Given the description of an element on the screen output the (x, y) to click on. 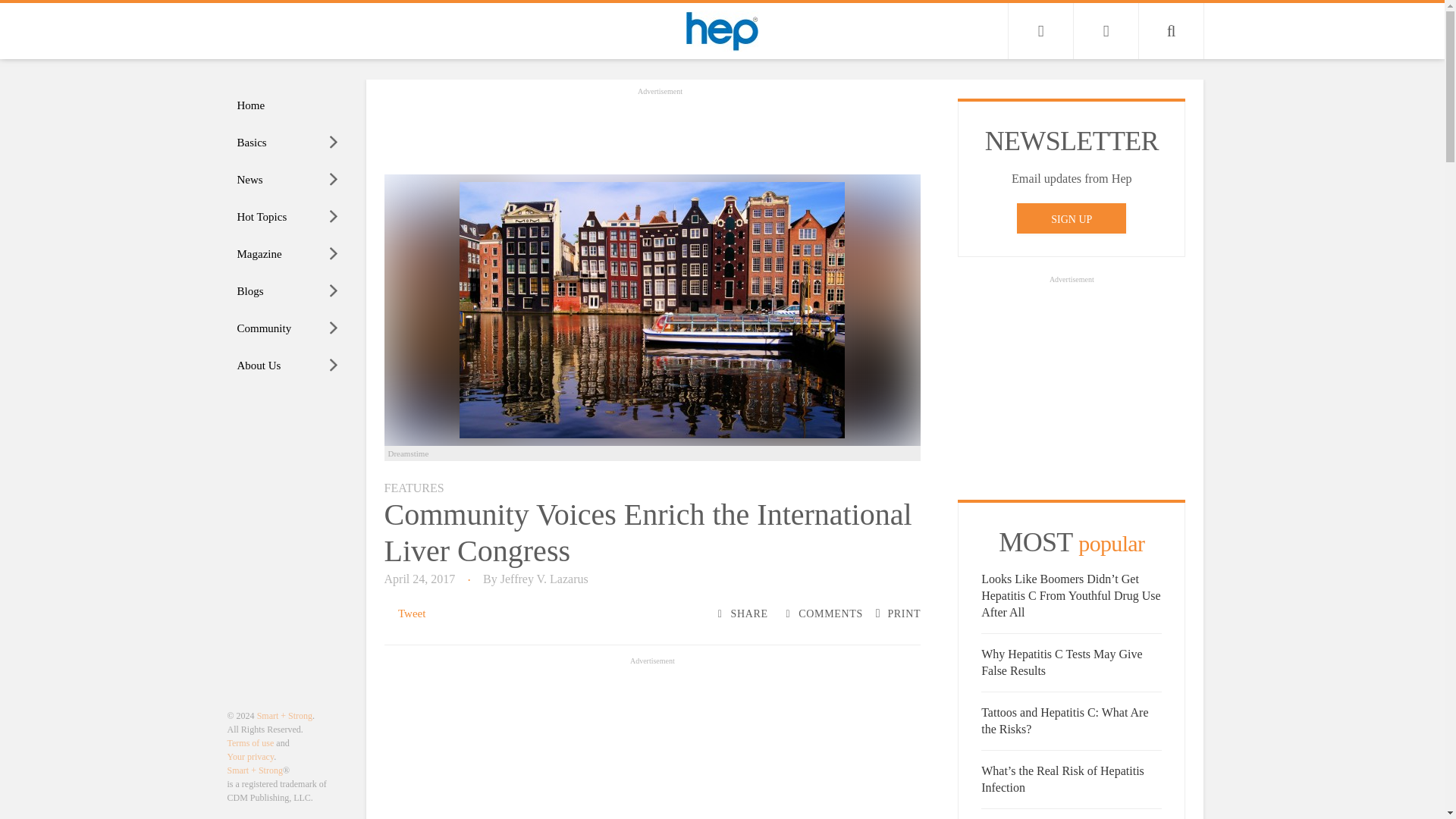
Home (288, 105)
3rd party ad content (660, 132)
News (288, 180)
Basics (288, 142)
3rd party ad content (1071, 381)
Hot Topics (288, 217)
3rd party ad content (651, 743)
